Given the description of an element on the screen output the (x, y) to click on. 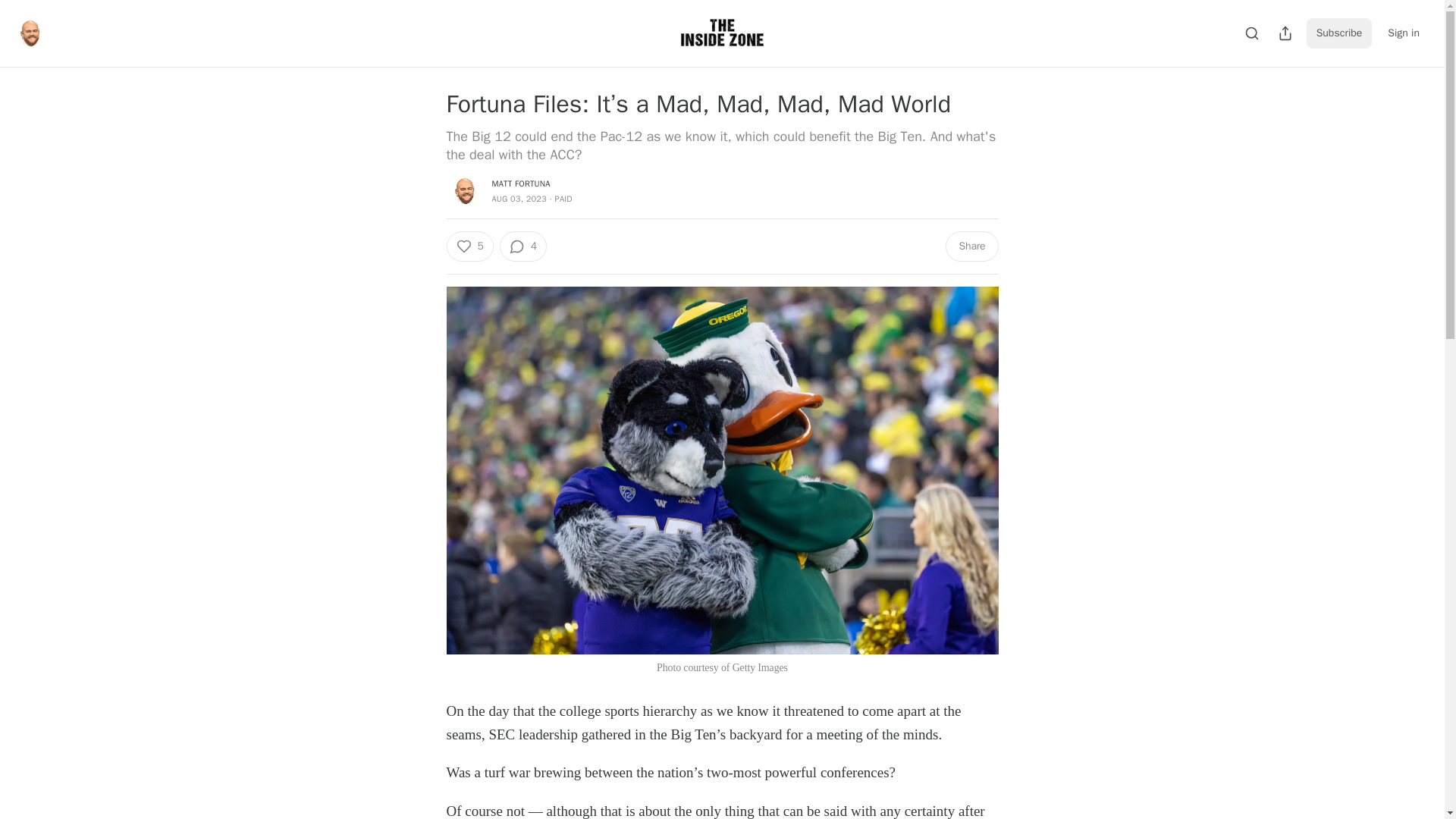
5 (469, 245)
Sign in (1403, 33)
Share (970, 245)
4 (523, 245)
Subscribe (1339, 33)
MATT FORTUNA (521, 183)
